Given the description of an element on the screen output the (x, y) to click on. 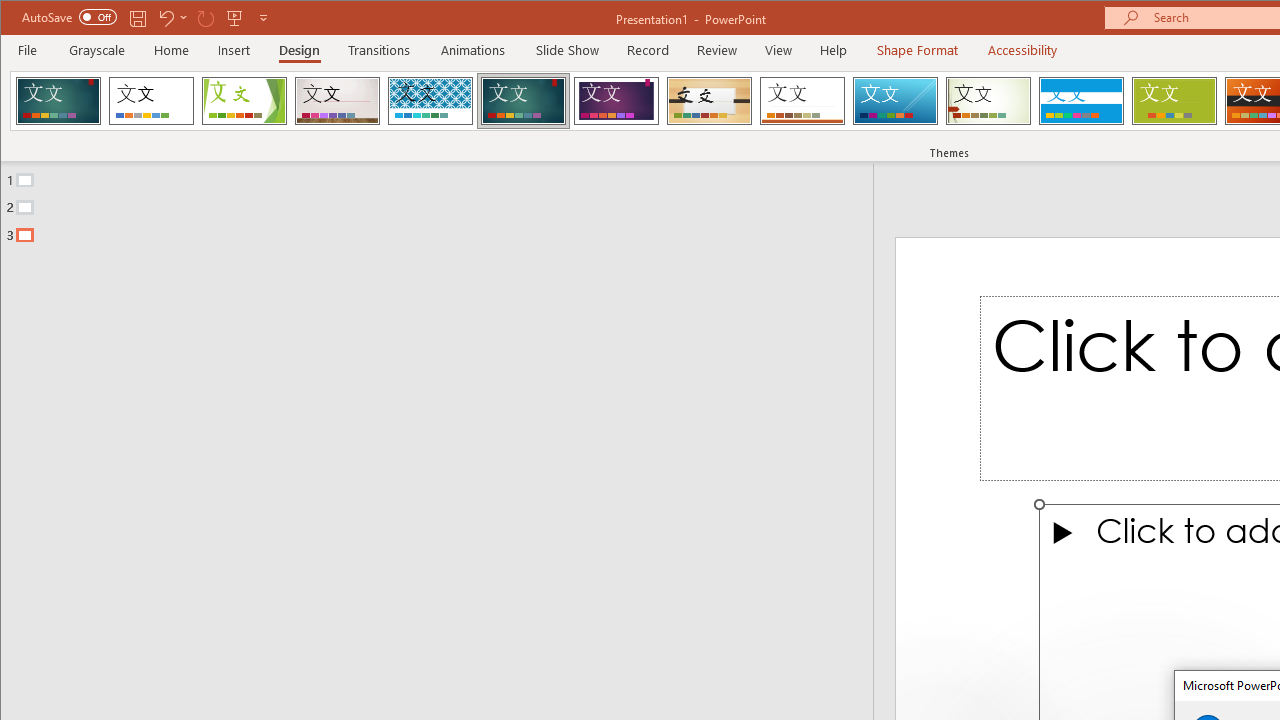
Wisp (988, 100)
Slice (895, 100)
Organic (709, 100)
Banded (1081, 100)
